Given the description of an element on the screen output the (x, y) to click on. 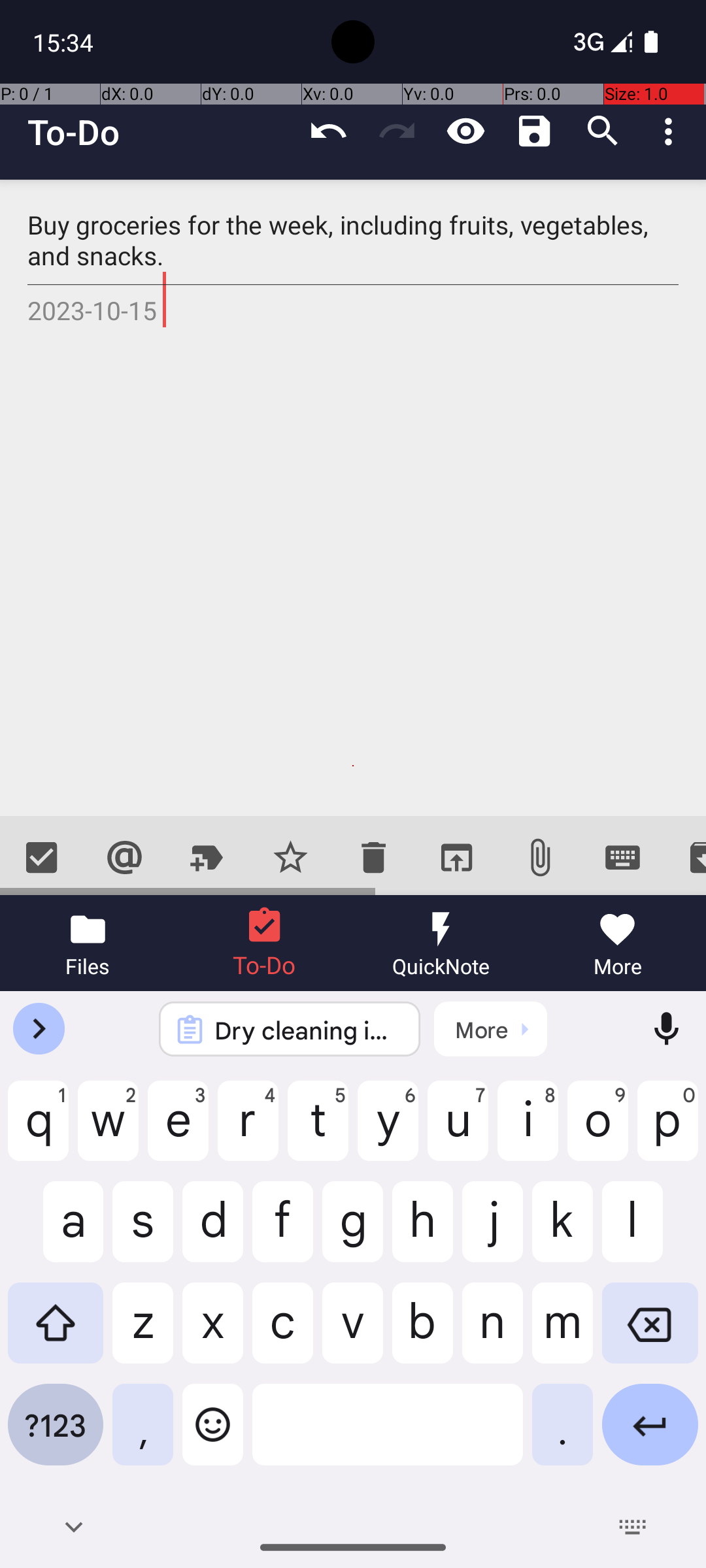
Buy groceries for the week, including fruits, vegetables, and snacks.
2023-10-15  Element type: android.widget.EditText (353, 497)
Dry cleaning is ready for pick-up. Element type: android.widget.TextView (306, 1029)
